Given the description of an element on the screen output the (x, y) to click on. 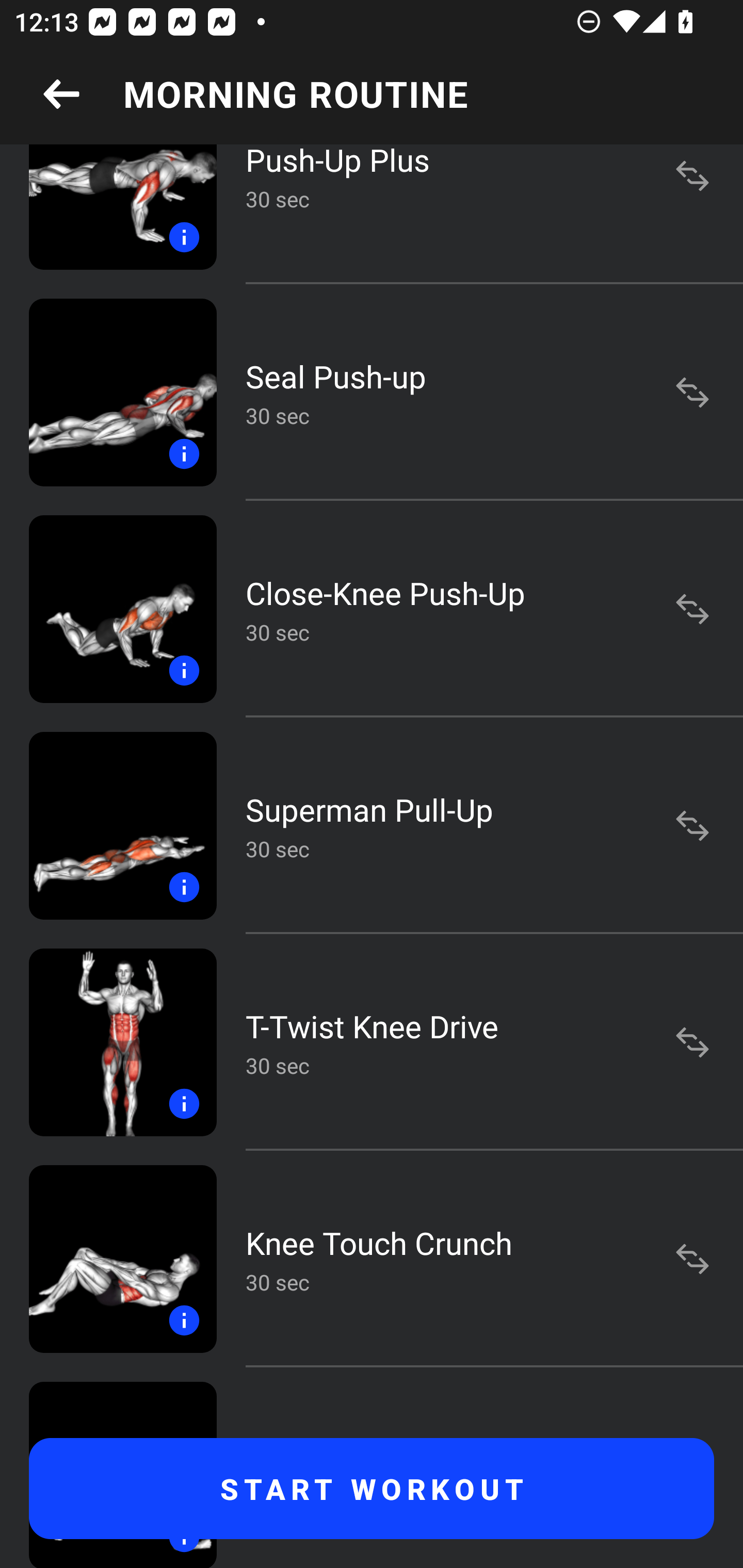
Push-Up Plus 30 sec (371, 213)
Seal Push-up 30 sec (371, 391)
Close-Knee Push-Up 30 sec (371, 609)
Superman Pull-Up 30 sec (371, 826)
T-Twist Knee Drive 30 sec (371, 1042)
Knee Touch Crunch 30 sec (371, 1258)
START WORKOUT (371, 1488)
